Given the description of an element on the screen output the (x, y) to click on. 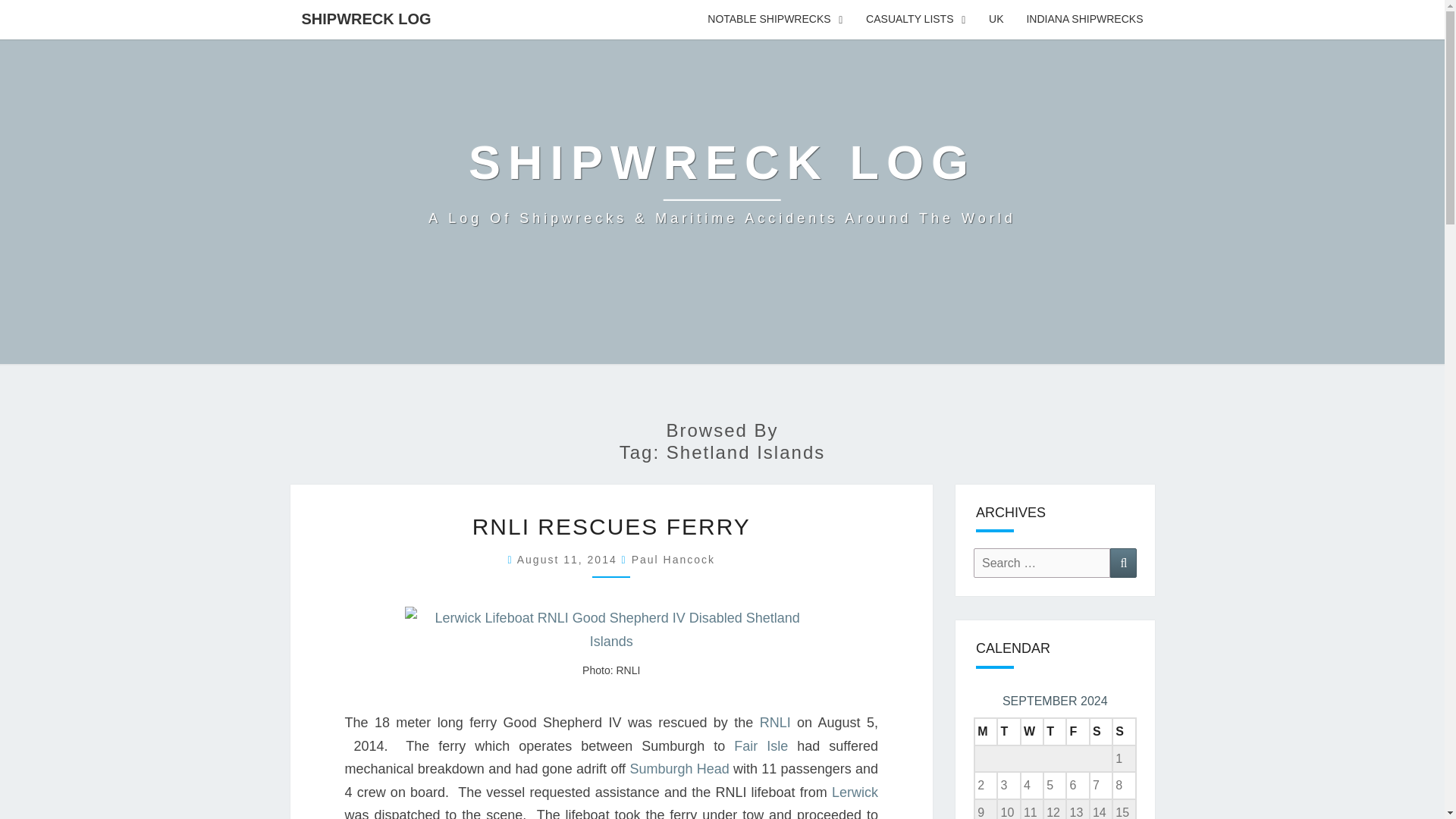
RNLI (775, 722)
Fair Isle (760, 745)
Shipwreck Log (722, 182)
Lerwick (854, 792)
Lerwick (854, 792)
SHIPWRECK LOG (365, 18)
View all posts by Paul Hancock (672, 559)
Sumburgh Head (678, 768)
NOTABLE SHIPWRECKS (774, 19)
August 11, 2014 (568, 559)
